Given the description of an element on the screen output the (x, y) to click on. 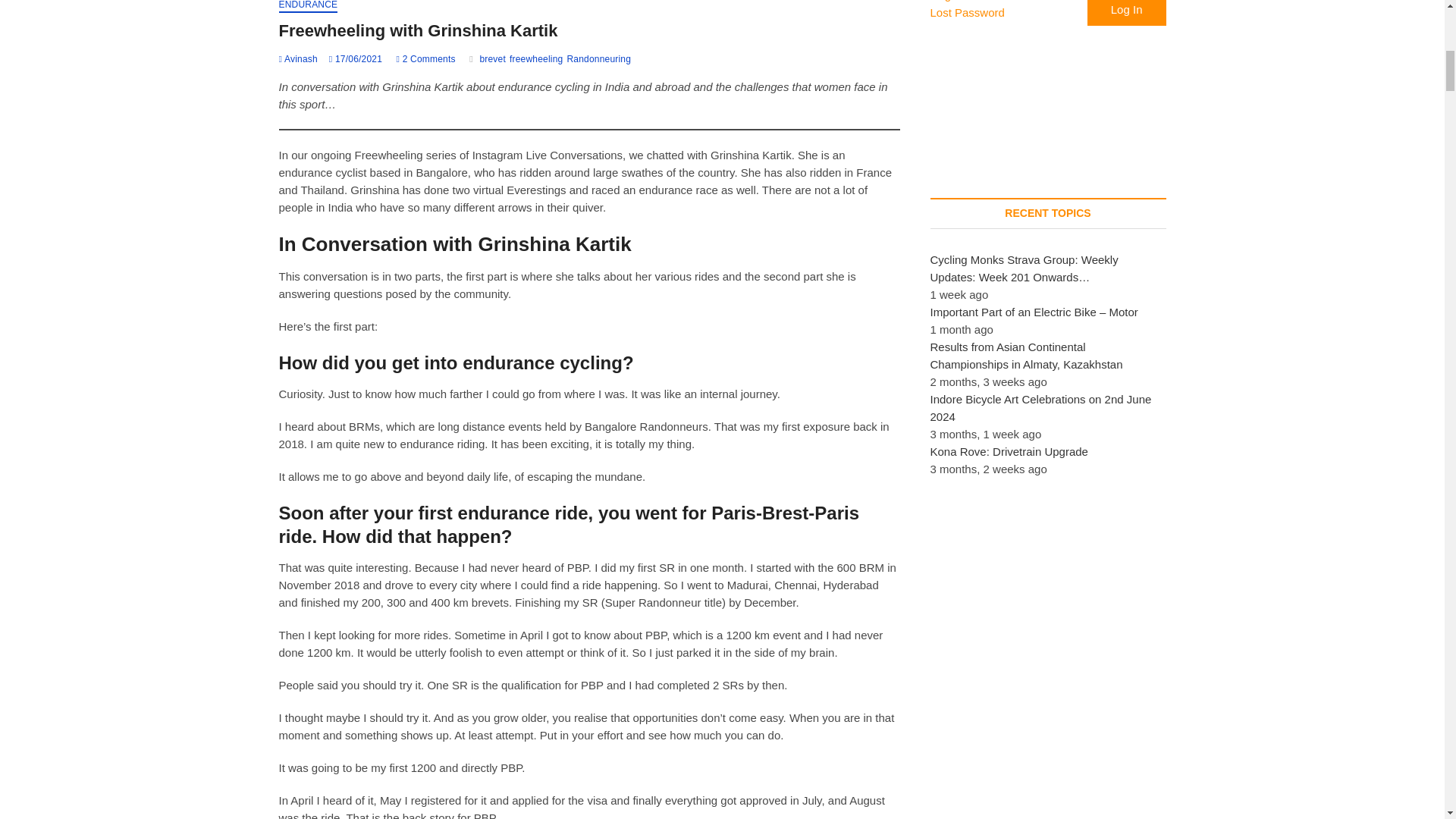
Lost Password (967, 13)
freewheeling (537, 60)
Freewheeling with Grinshina Kartik (298, 59)
2 Comments (425, 59)
Register (951, 2)
ENDURANCE (308, 6)
Randonneuring (600, 60)
brevet (494, 60)
Avinash (298, 59)
